Given the description of an element on the screen output the (x, y) to click on. 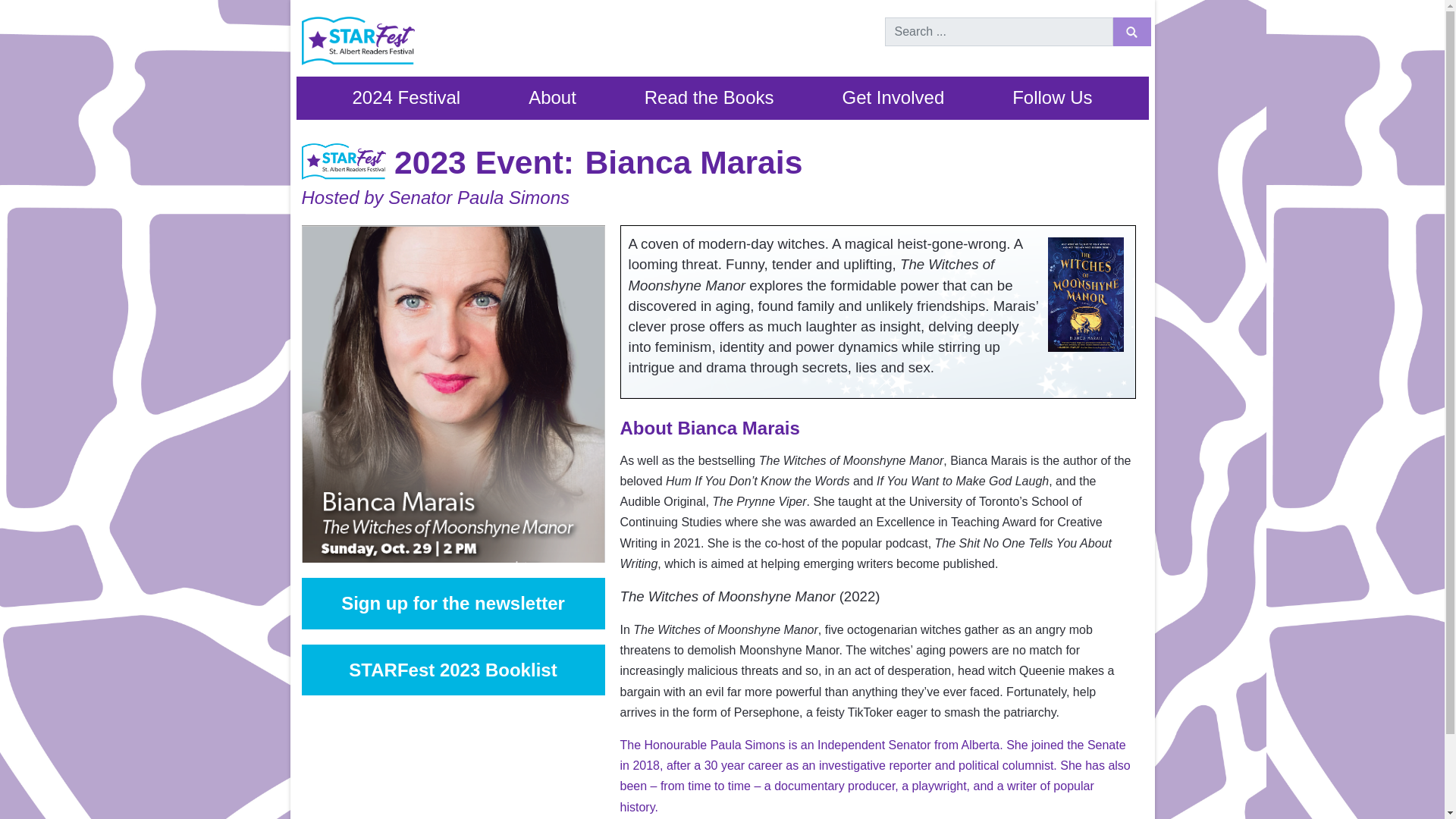
2024 Festival (405, 97)
About (552, 97)
Follow Us (1051, 97)
Get Involved (892, 97)
Read the Books (708, 97)
